Given the description of an element on the screen output the (x, y) to click on. 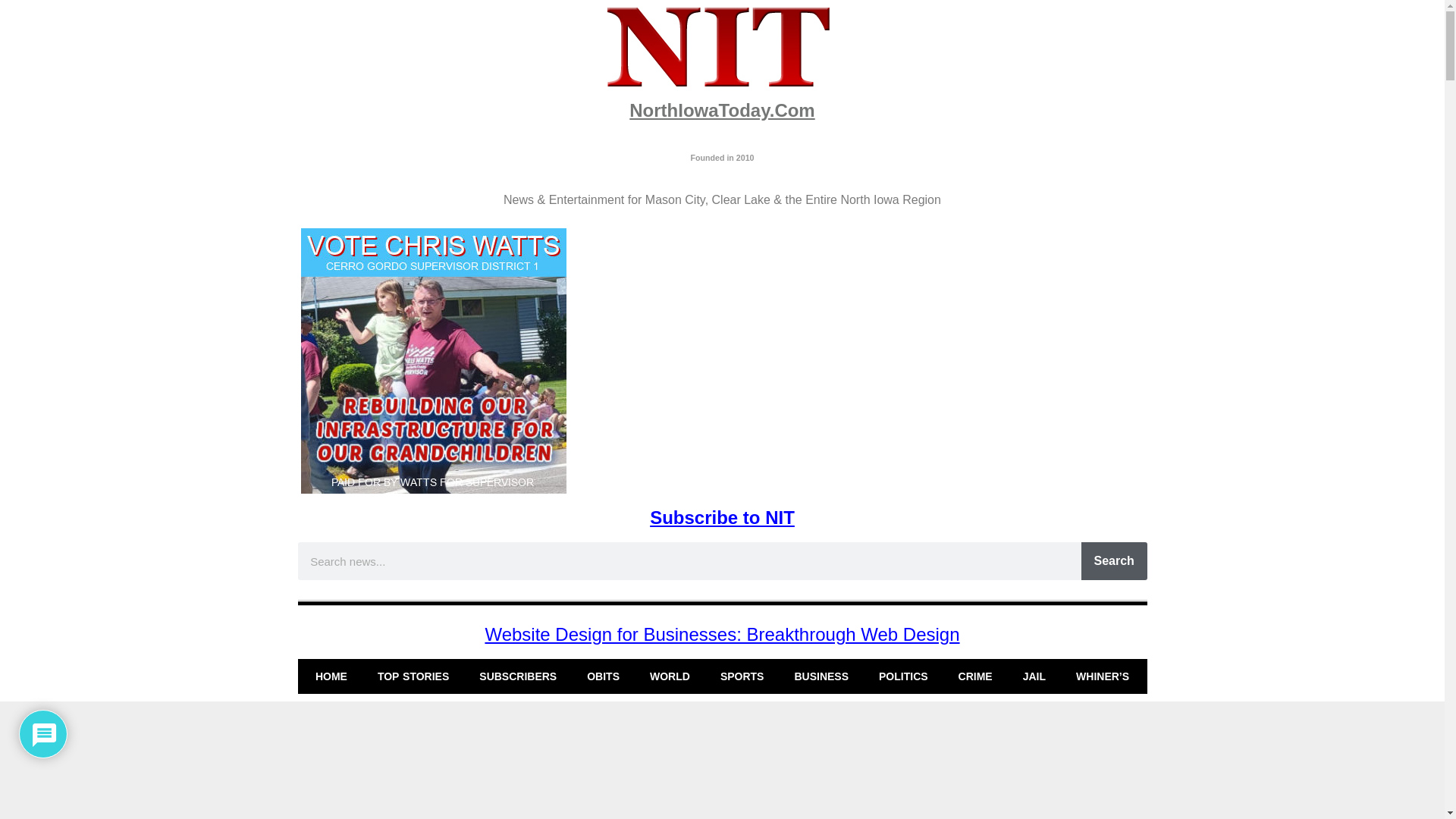
SPORTS (741, 676)
OBITS (603, 676)
Search (1114, 560)
SUBSCRIBERS (518, 676)
WORLD (669, 676)
CRIME (975, 676)
POLITICS (903, 676)
Website Design for Businesses: Breakthrough Web Design (721, 634)
Advertisement (721, 764)
HOME (330, 676)
BUSINESS (820, 676)
JAIL (1034, 676)
Subscribe to NIT (721, 516)
TOP STORIES (413, 676)
NorthIowaToday.Com (720, 109)
